Given the description of an element on the screen output the (x, y) to click on. 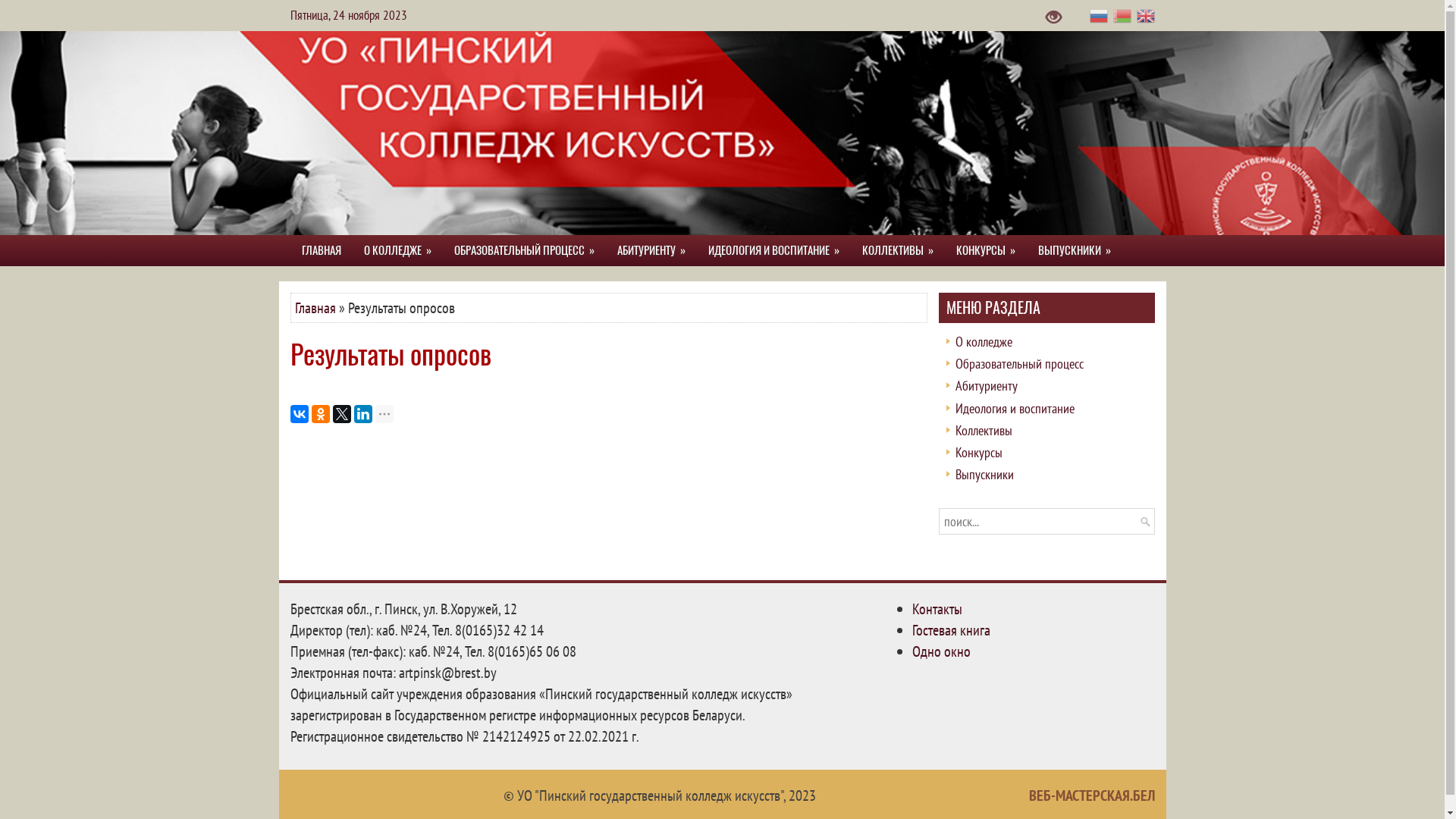
LinkedIn Element type: hover (362, 413)
Twitter Element type: hover (341, 413)
